Given the description of an element on the screen output the (x, y) to click on. 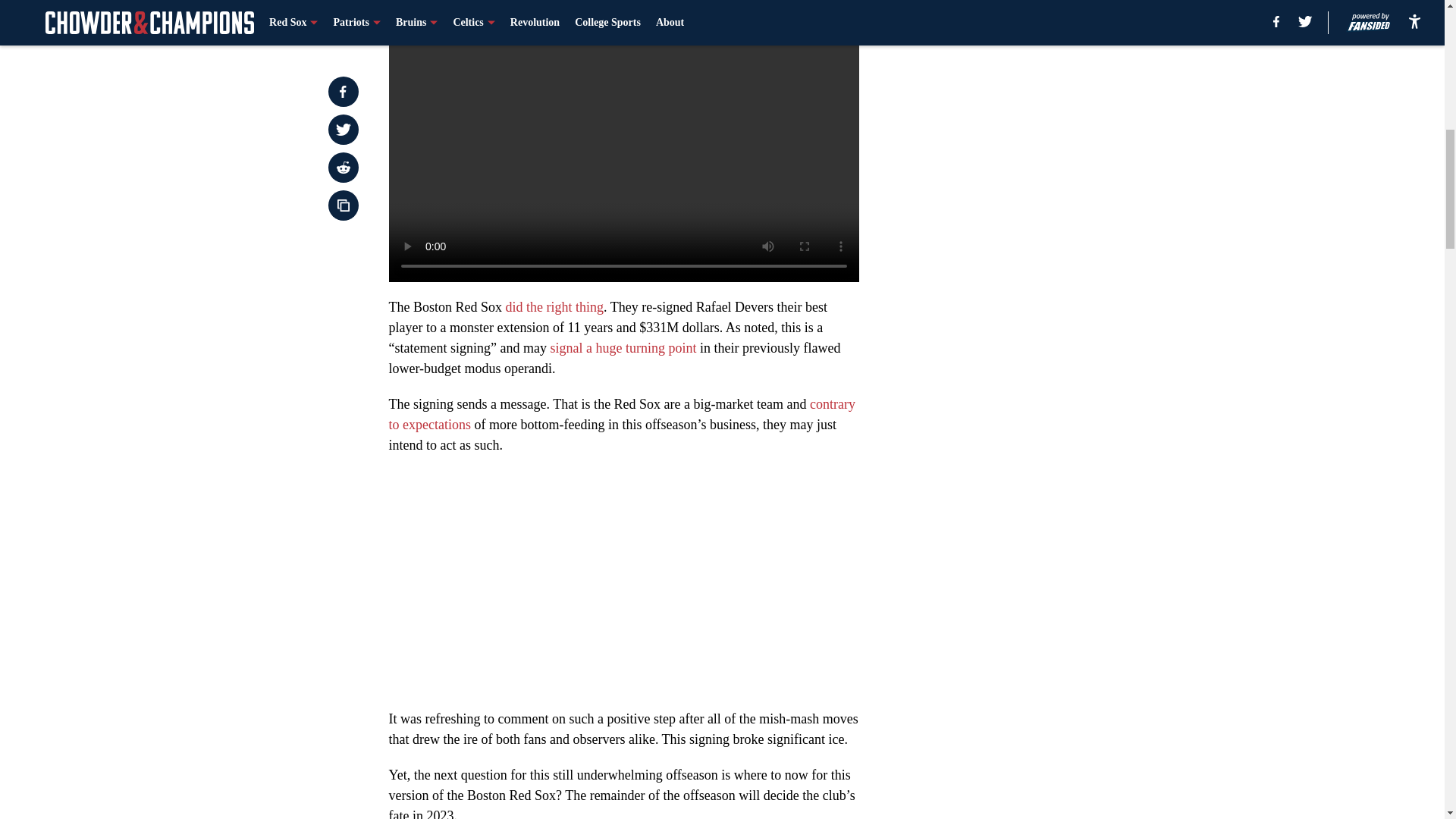
3rd party ad content (1047, 332)
contrary to expectations (622, 414)
3rd party ad content (1047, 113)
signal a huge turning point (622, 347)
did the right thing (554, 306)
